Given the description of an element on the screen output the (x, y) to click on. 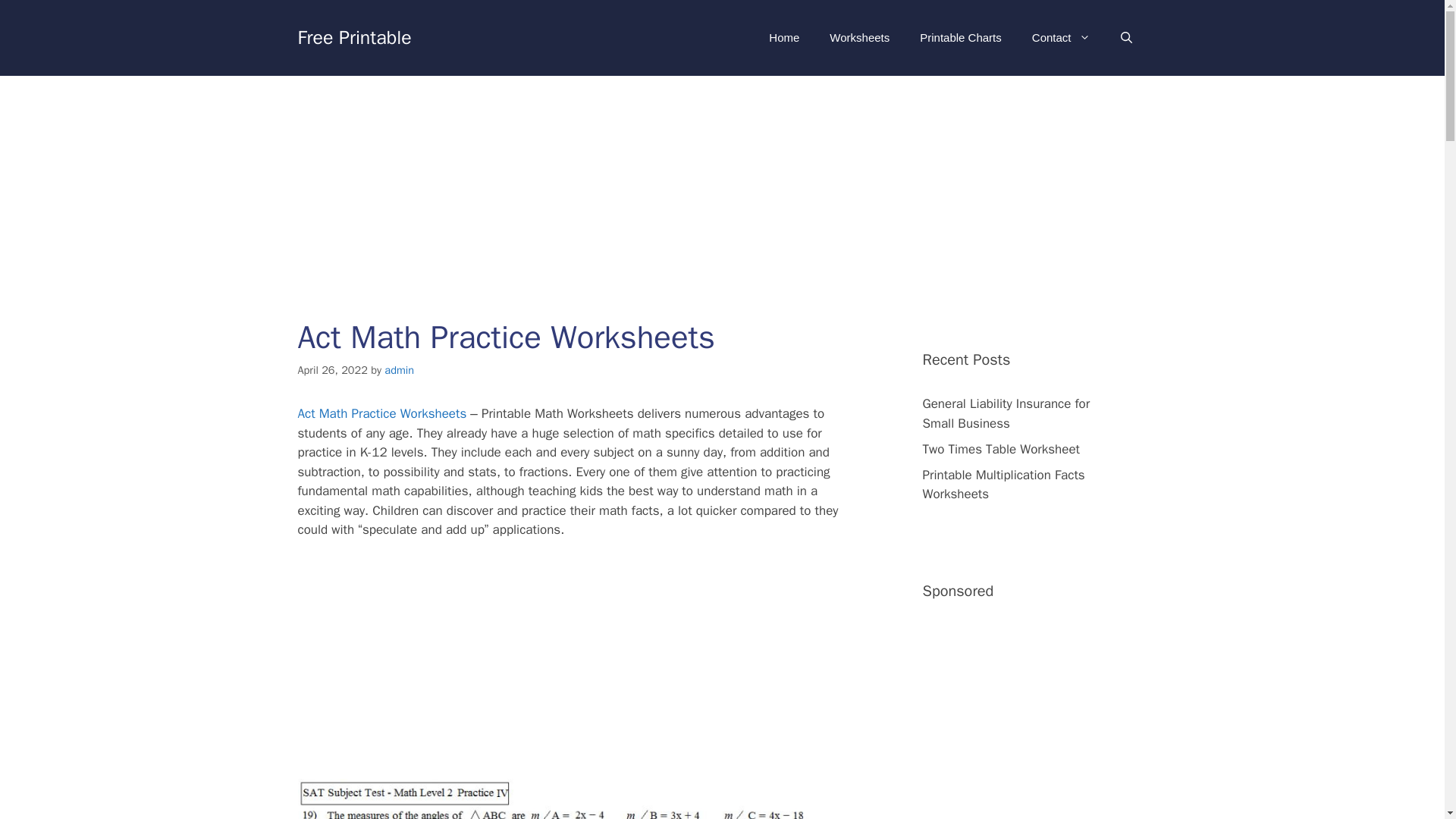
admin (398, 369)
Home (783, 37)
View all posts by admin (398, 369)
Advertisement (579, 664)
General Liability Insurance for Small Business (1005, 413)
Act Math Practice Worksheets (381, 413)
Free Printable (353, 37)
Printable Charts (960, 37)
Contact (1060, 37)
